Given the description of an element on the screen output the (x, y) to click on. 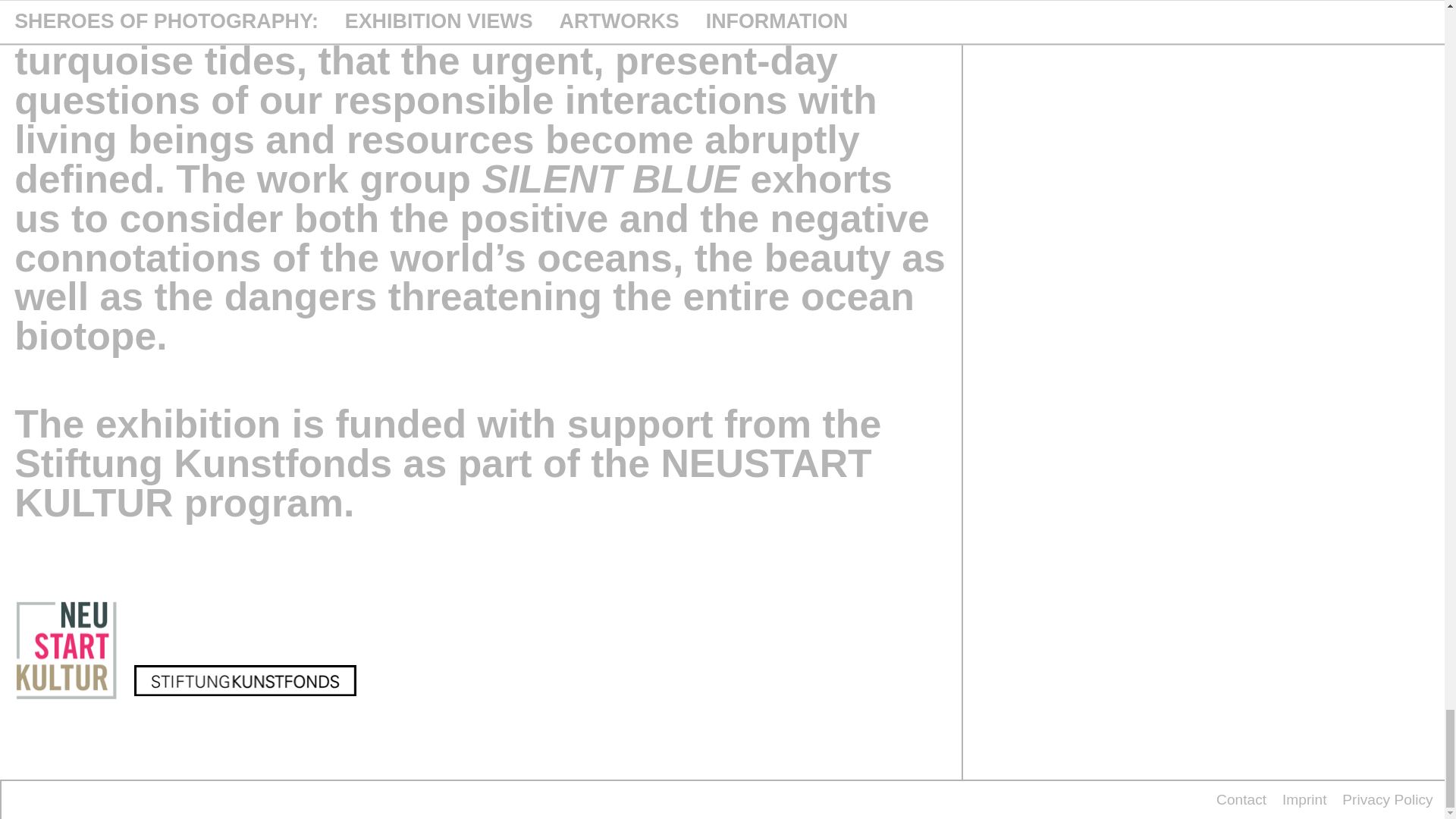
Contact (1240, 799)
Imprint (1304, 799)
Privacy Policy (1387, 799)
